Given the description of an element on the screen output the (x, y) to click on. 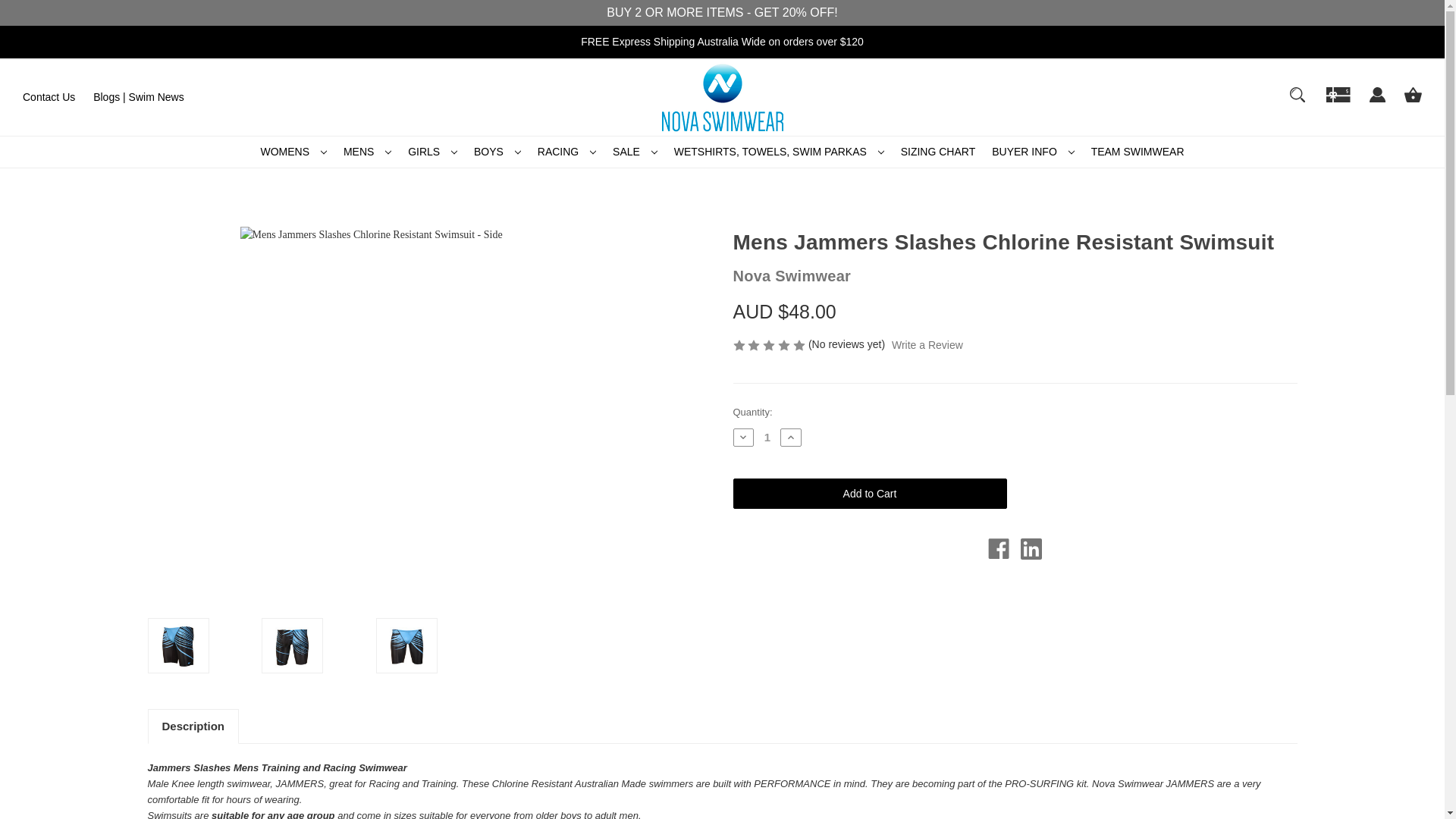
Facebook (998, 548)
GIRLS (431, 151)
WOMENS (292, 151)
MENS (366, 151)
MAGNIFYING GLASS IMAGE LARGE RED CIRCLE WITH A BLACK BORDER (1297, 94)
MAGNIFYING GLASS IMAGE LARGE RED CIRCLE WITH A BLACK BORDER (1297, 101)
BOYS (497, 151)
GIFT CARD IMAGE LARGE SQUARE BLACK IMAGE WITH A BOW ONTOP (1337, 101)
GIFT CARD IMAGE LARGE SQUARE BLACK IMAGE WITH A BOW ONTOP (1337, 94)
Linkedin (1031, 548)
Add to Cart (869, 493)
RACING (566, 151)
Contact Us (48, 96)
1 (767, 436)
